Given the description of an element on the screen output the (x, y) to click on. 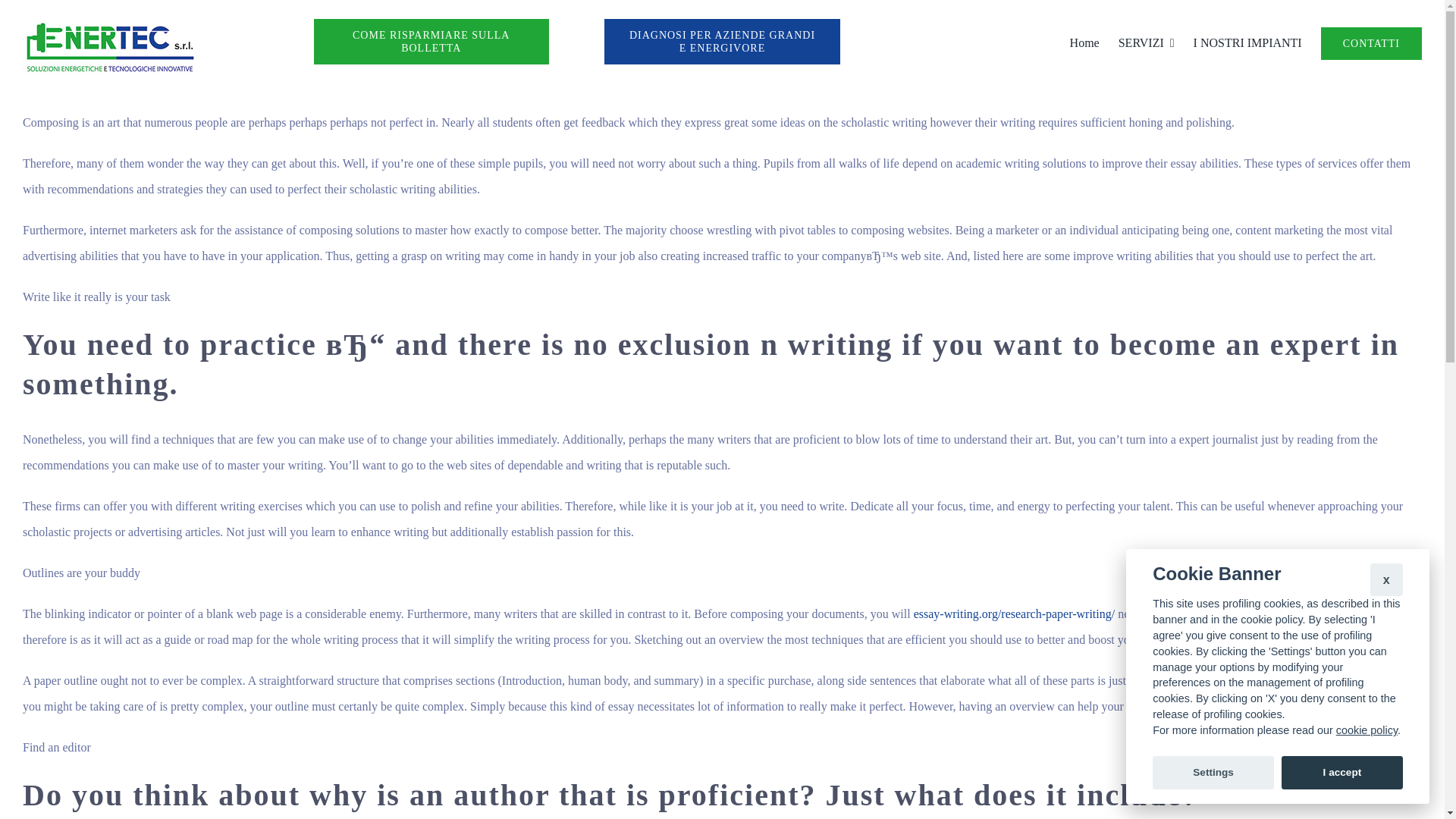
Stampa (109, 47)
COME RISPARMIARE SULLA BOLLETTA (431, 41)
SERVIZI (1146, 42)
I accept (1342, 772)
x (1386, 579)
CONTATTI (1371, 42)
cookie policy (1366, 729)
Settings (1213, 772)
DIAGNOSI PER AZIENDE GRANDI E ENERGIVORE (722, 41)
I NOSTRI IMPIANTI (1247, 42)
